Given the description of an element on the screen output the (x, y) to click on. 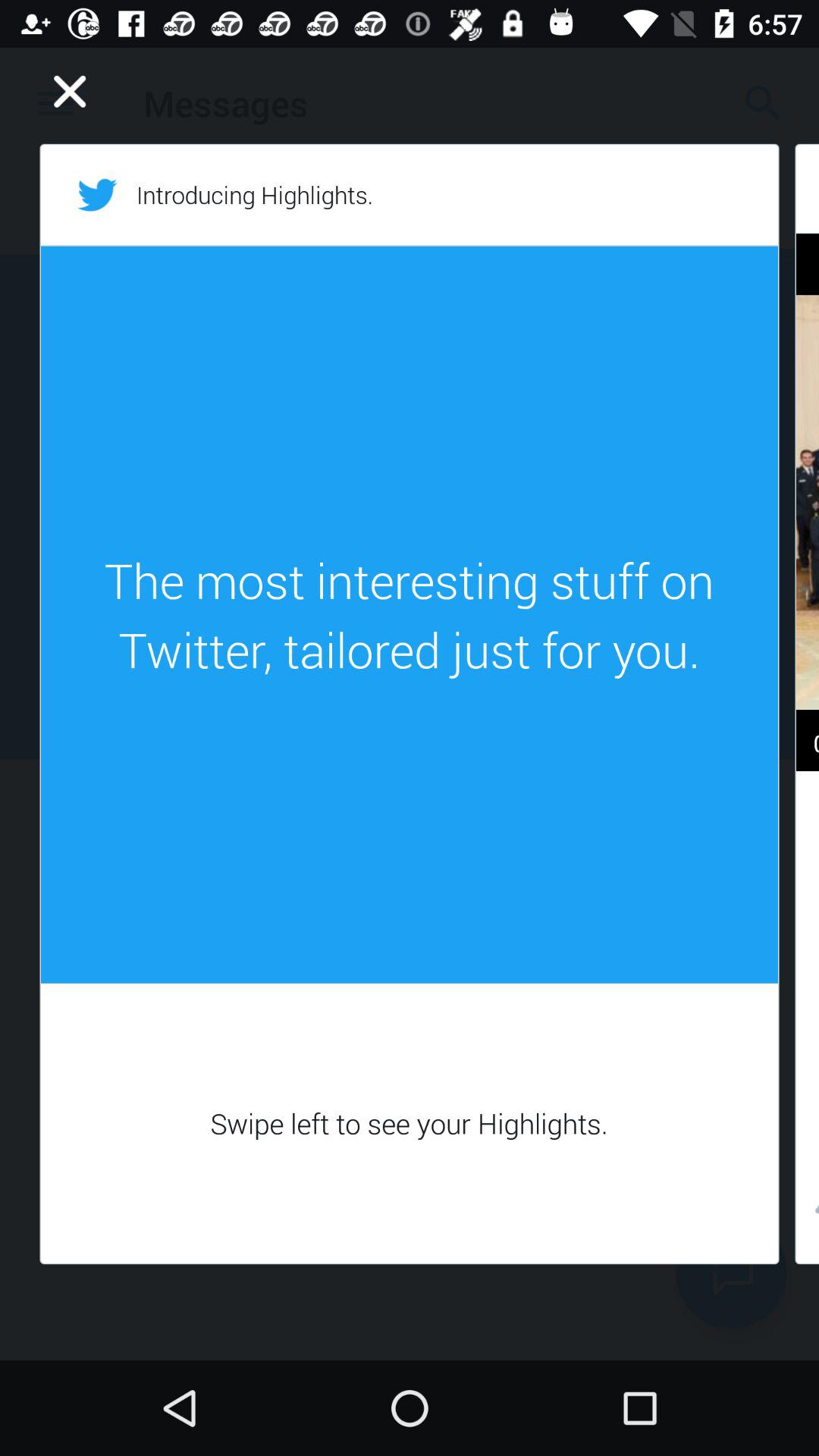
launch 7,232 (807, 1213)
